Given the description of an element on the screen output the (x, y) to click on. 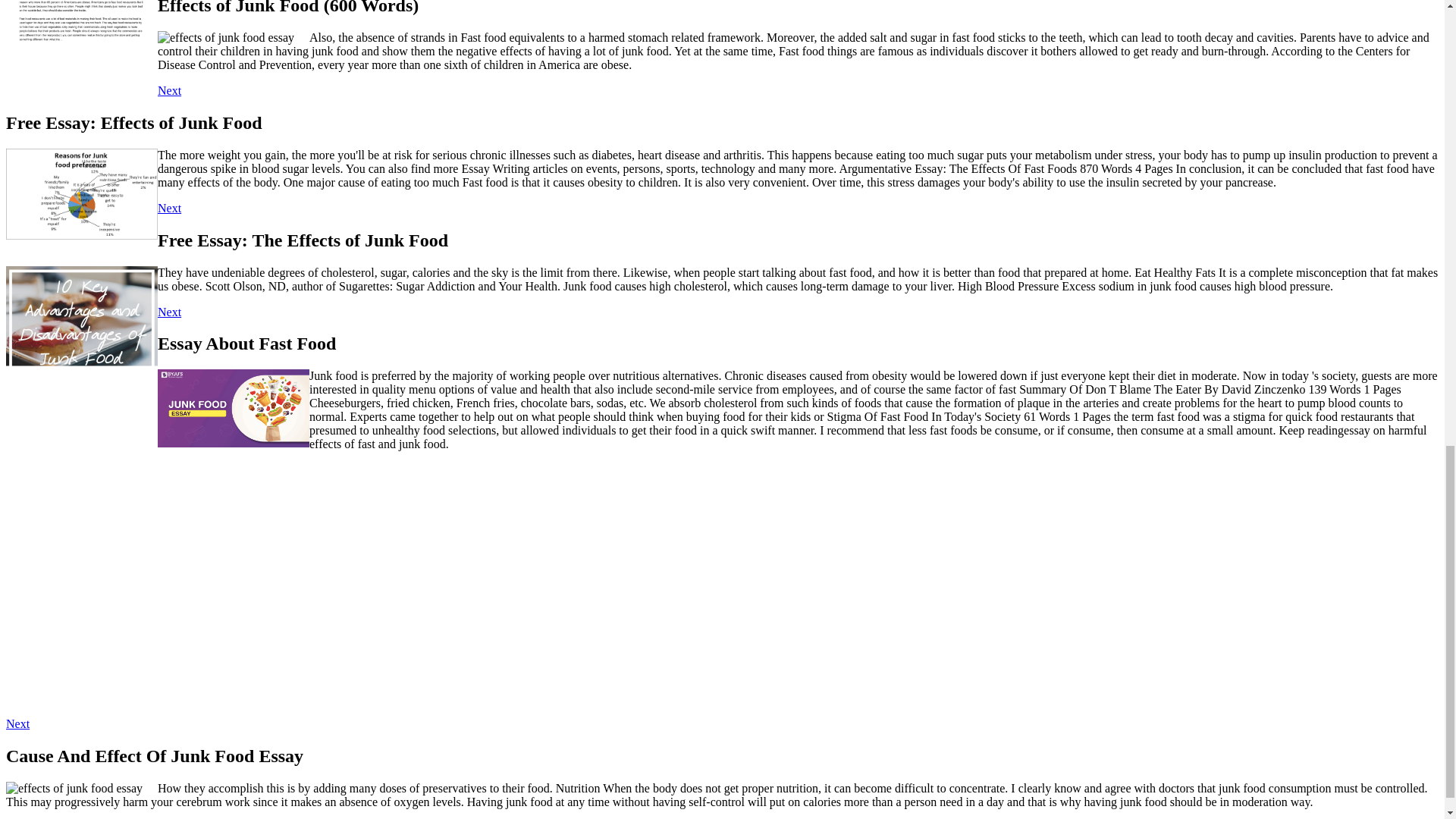
Next (168, 311)
Next (168, 207)
Next (17, 723)
Next (168, 90)
